Given the description of an element on the screen output the (x, y) to click on. 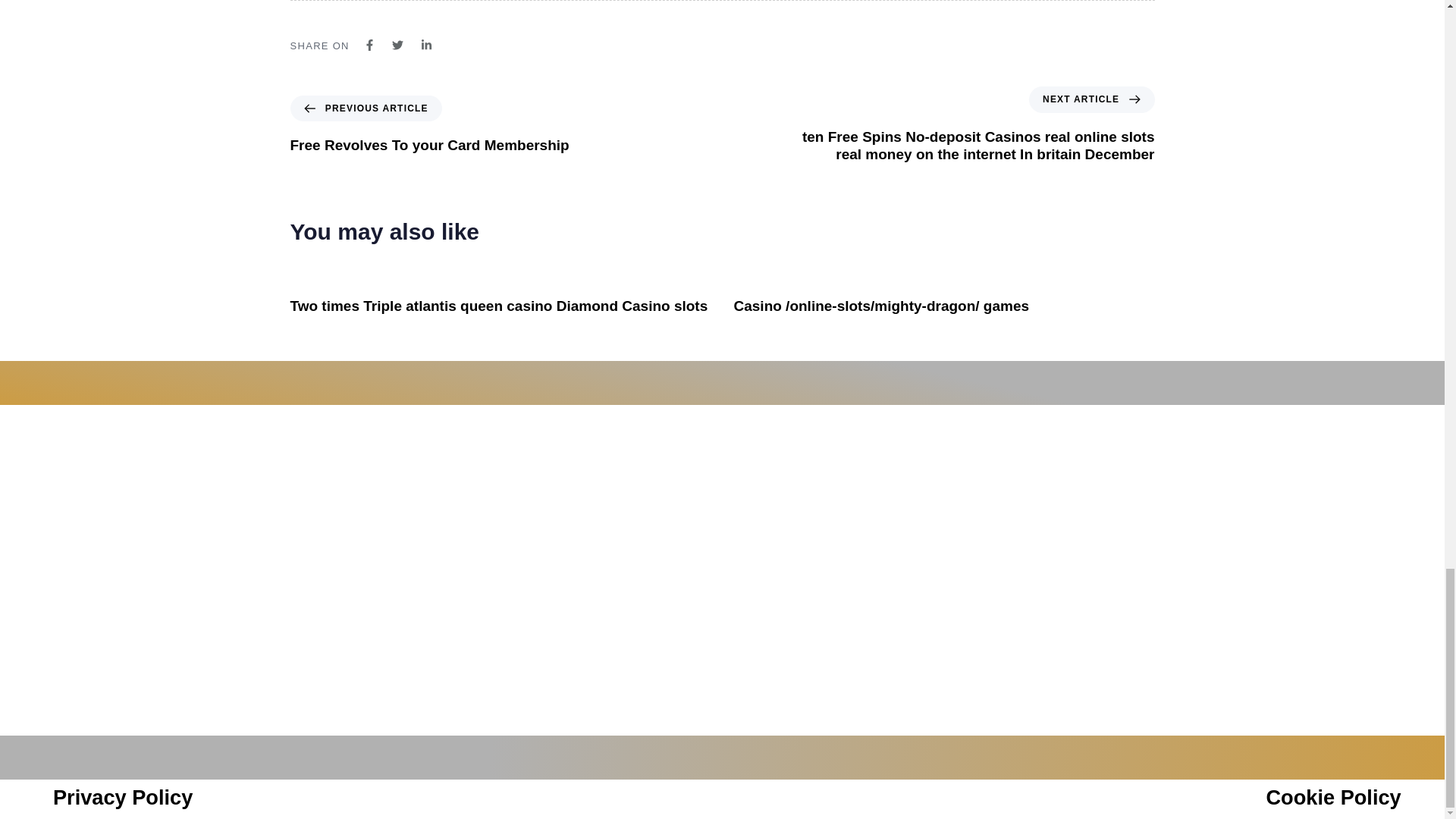
Two times Triple atlantis queen casino Diamond Casino slots (498, 305)
